Given the description of an element on the screen output the (x, y) to click on. 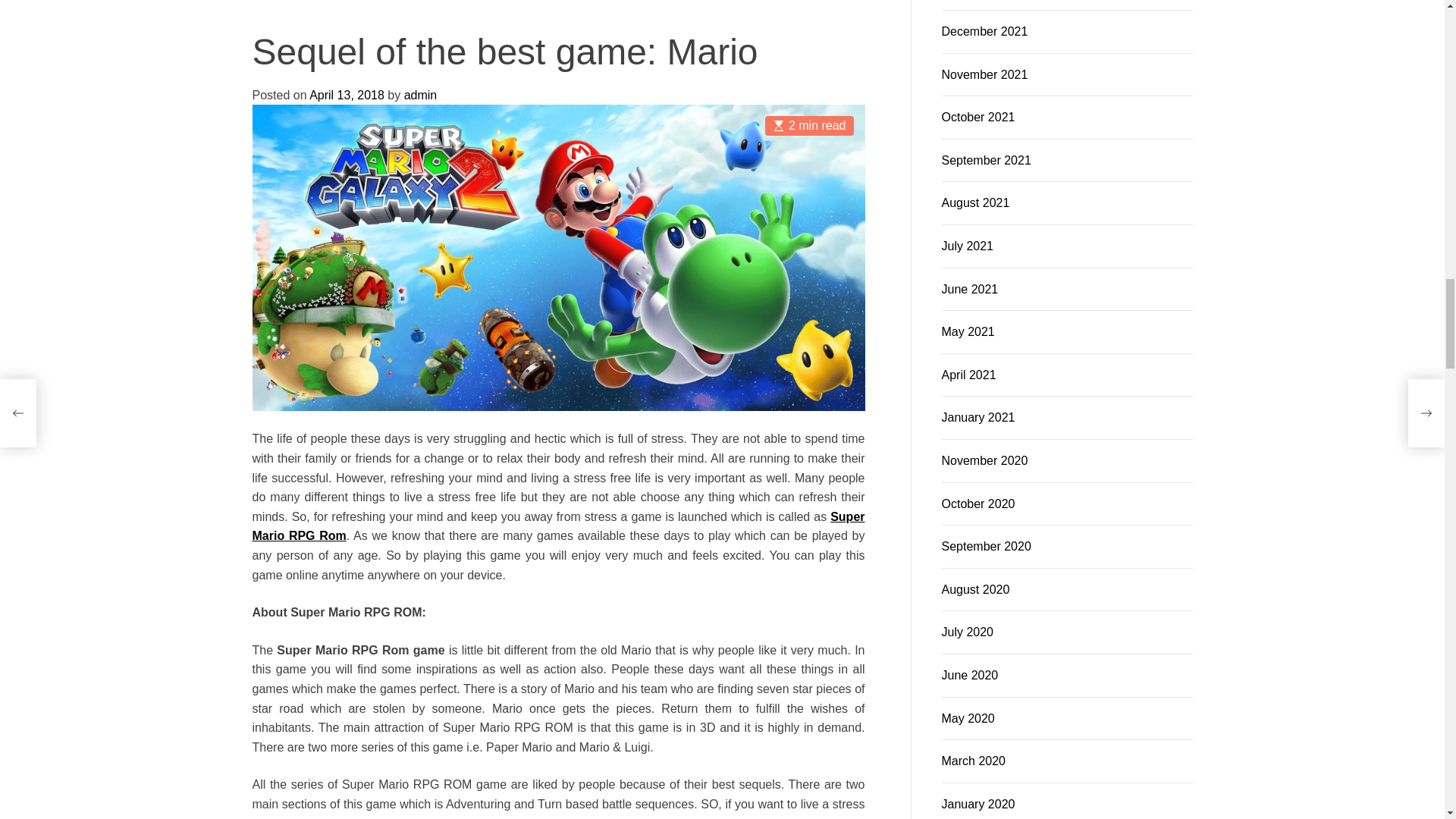
Submit (829, 63)
yes (311, 13)
